Given the description of an element on the screen output the (x, y) to click on. 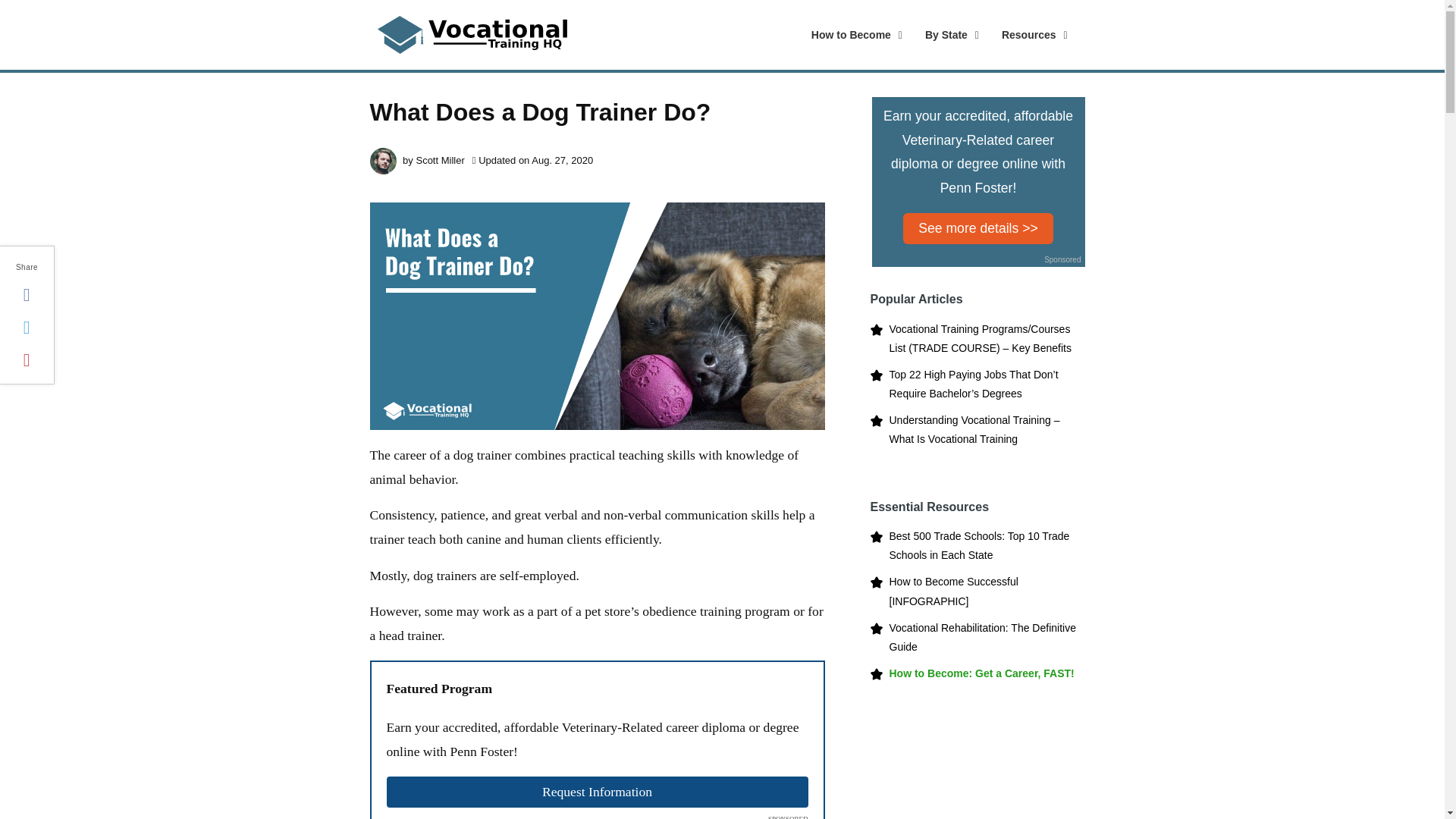
How to Become (853, 34)
By State (935, 34)
